Given the description of an element on the screen output the (x, y) to click on. 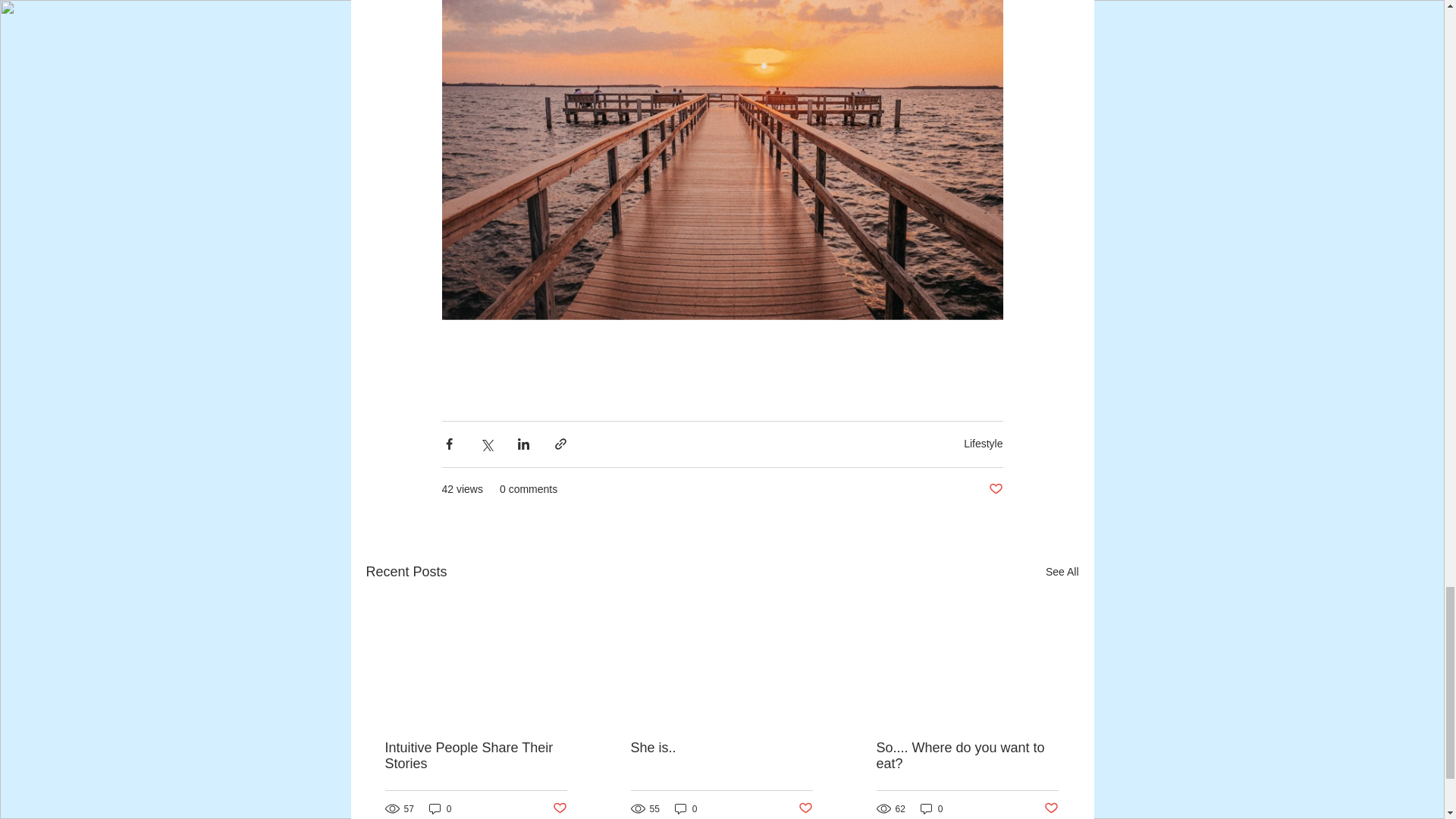
Lifestyle (983, 443)
Intuitive People Share Their Stories (476, 756)
0 (440, 808)
0 (685, 808)
She is.. (721, 747)
Post not marked as liked (1050, 808)
Post not marked as liked (995, 488)
See All (1061, 572)
Post not marked as liked (804, 808)
So.... Where do you want to eat? (967, 756)
Post not marked as liked (558, 808)
0 (931, 808)
